Given the description of an element on the screen output the (x, y) to click on. 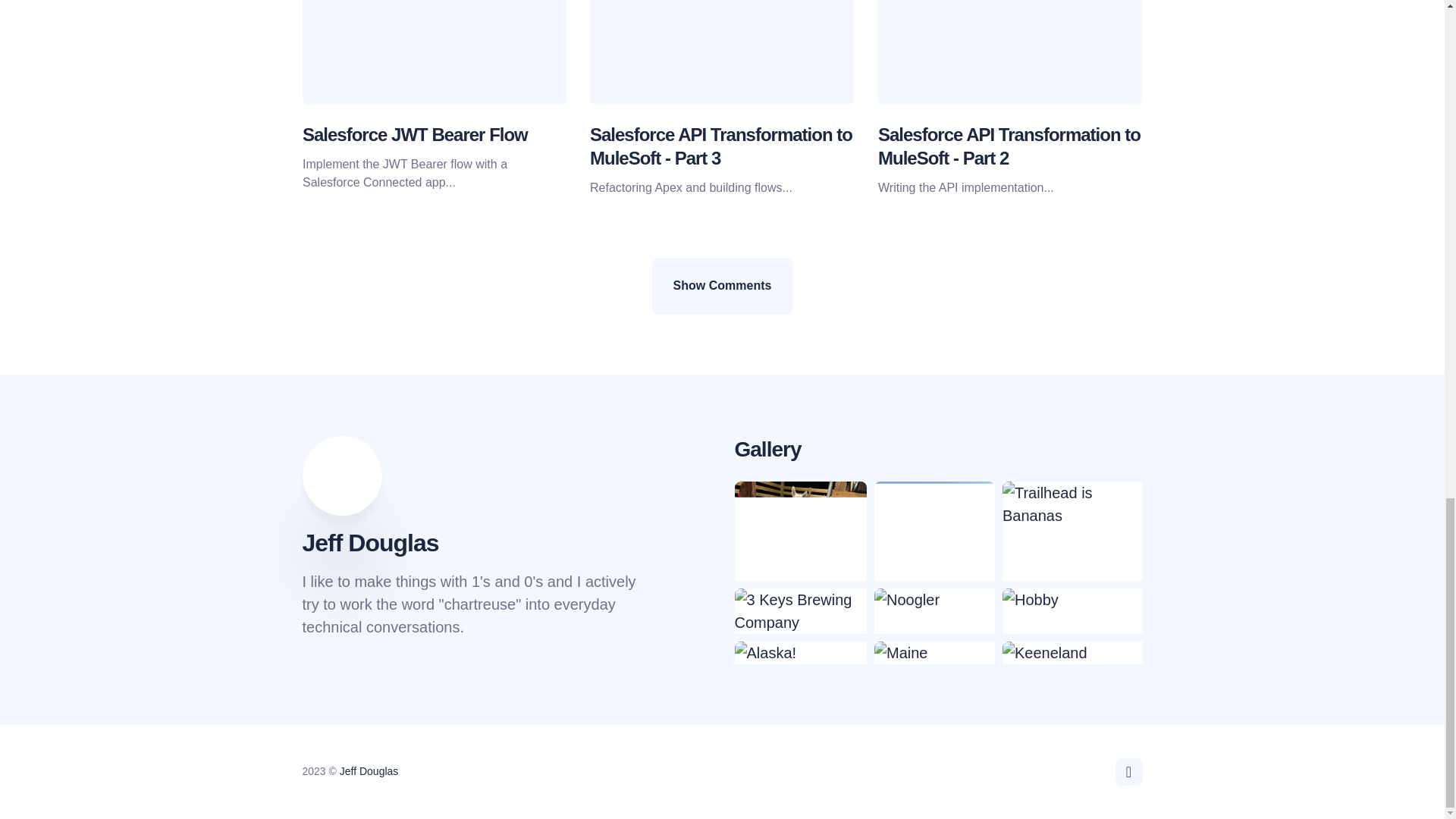
Salesforce API Transformation to MuleSoft - Part 3 (720, 146)
Jeff Douglas (368, 770)
Show Comments (722, 285)
Salesforce API Transformation to MuleSoft - Part 2 (1008, 146)
Salesforce JWT Bearer Flow (414, 134)
Top (1128, 771)
